Given the description of an element on the screen output the (x, y) to click on. 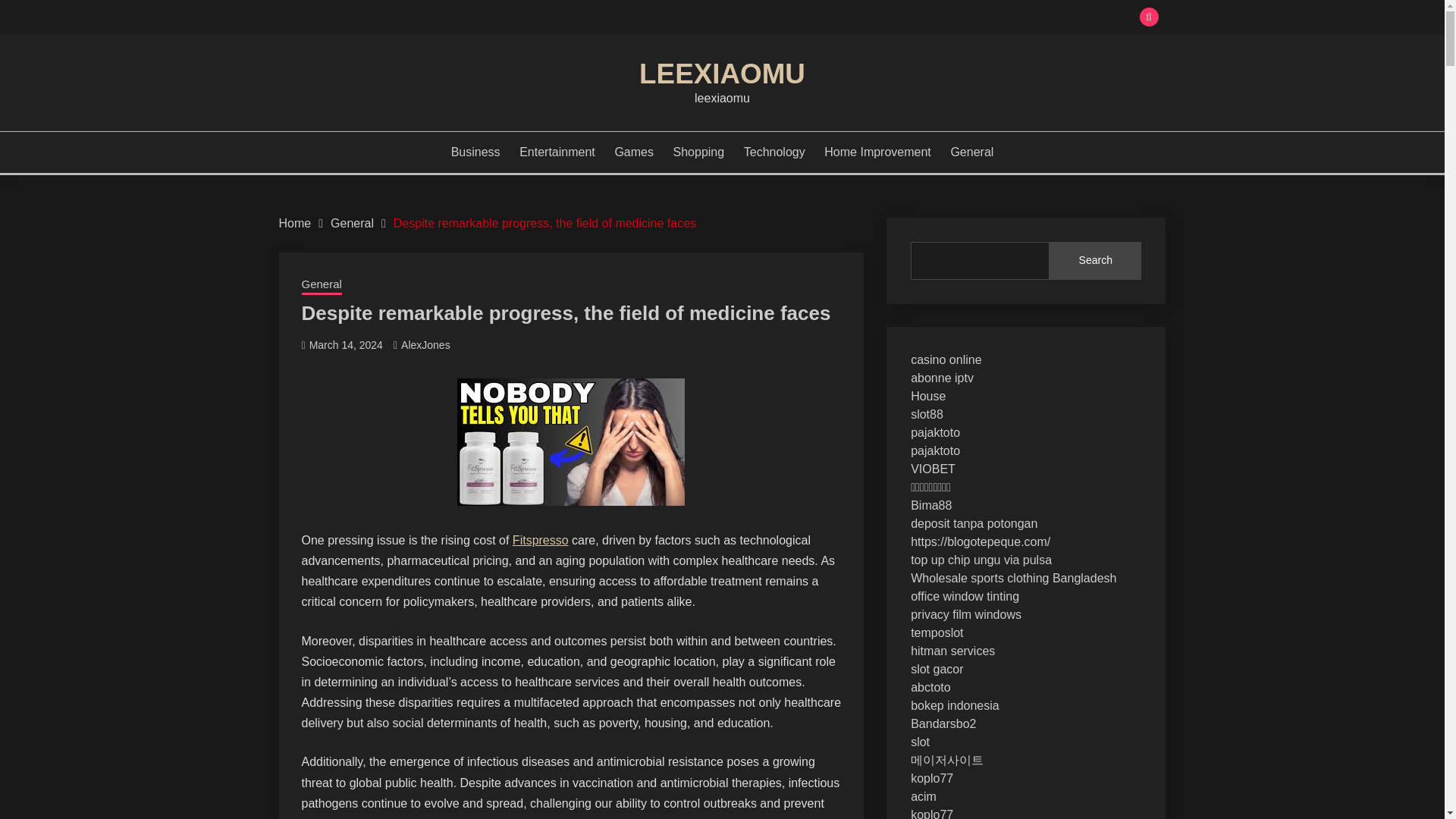
Entertainment (557, 152)
abonne iptv (942, 377)
Games (633, 152)
Fitspresso (540, 540)
Technology (774, 152)
slot88 (927, 413)
Home (295, 223)
pajaktoto (935, 431)
Despite remarkable progress, the field of medicine faces (544, 223)
LEEXIAOMU (722, 73)
General (352, 223)
casino online (946, 359)
General (321, 285)
House (927, 395)
Home Improvement (877, 152)
